Given the description of an element on the screen output the (x, y) to click on. 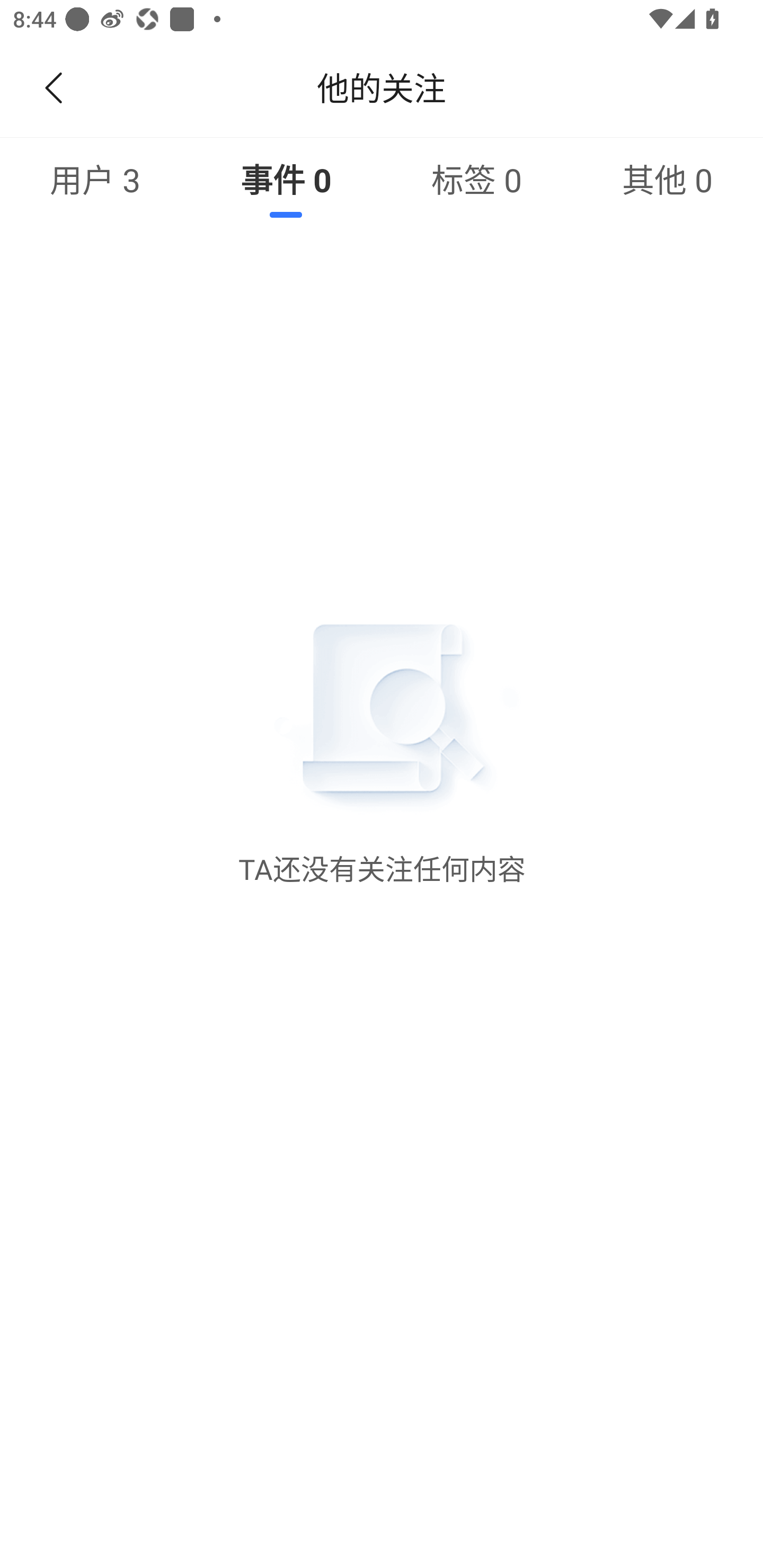
返回，可点击 (49, 87)
用户&nbsp;3，可选中 (95, 179)
已选中事件&nbsp;0 (285, 179)
标签&nbsp;0，可选中 (476, 179)
其他&nbsp;0，可选中 (667, 179)
